Given the description of an element on the screen output the (x, y) to click on. 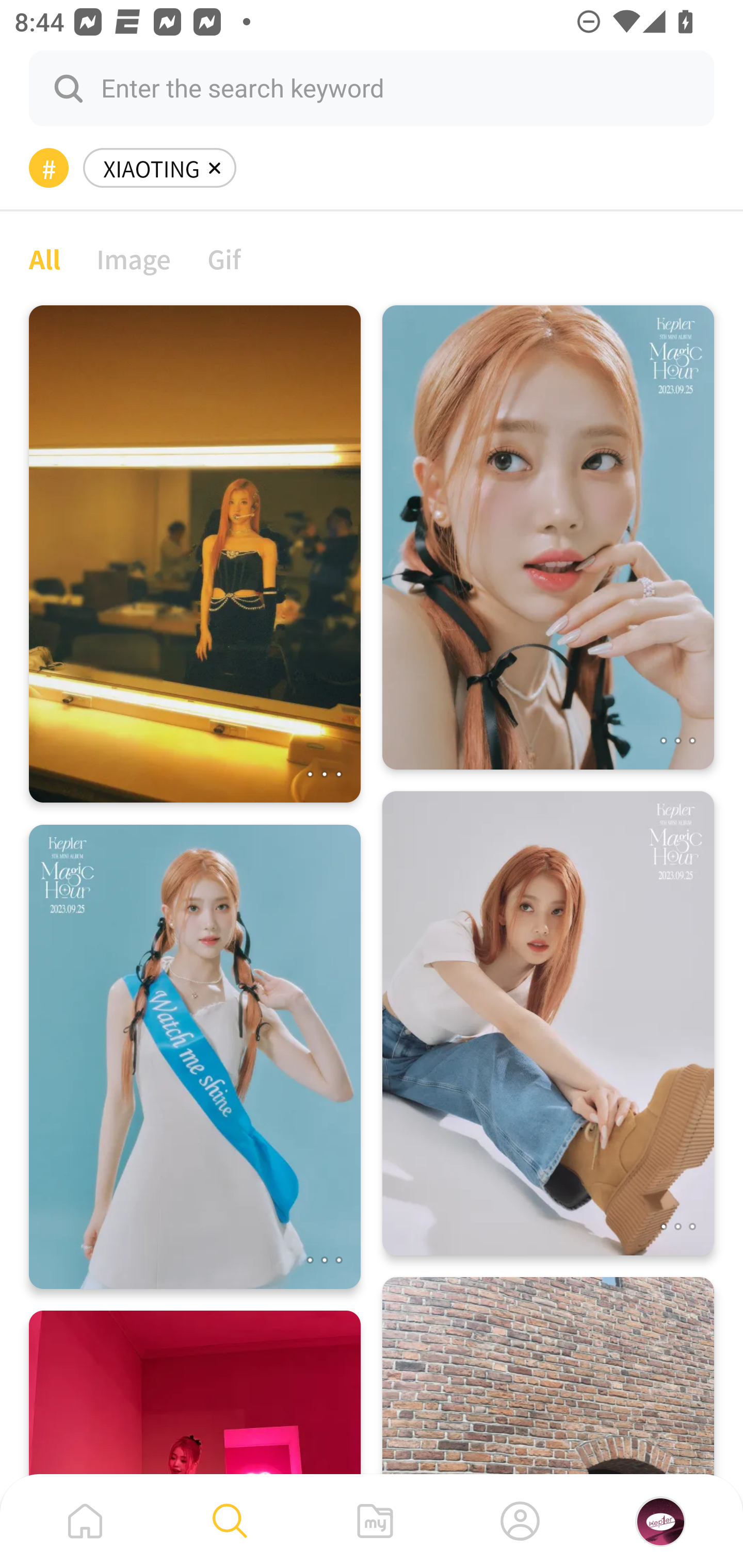
All (44, 257)
Image (133, 257)
Gif (223, 257)
